Given the description of an element on the screen output the (x, y) to click on. 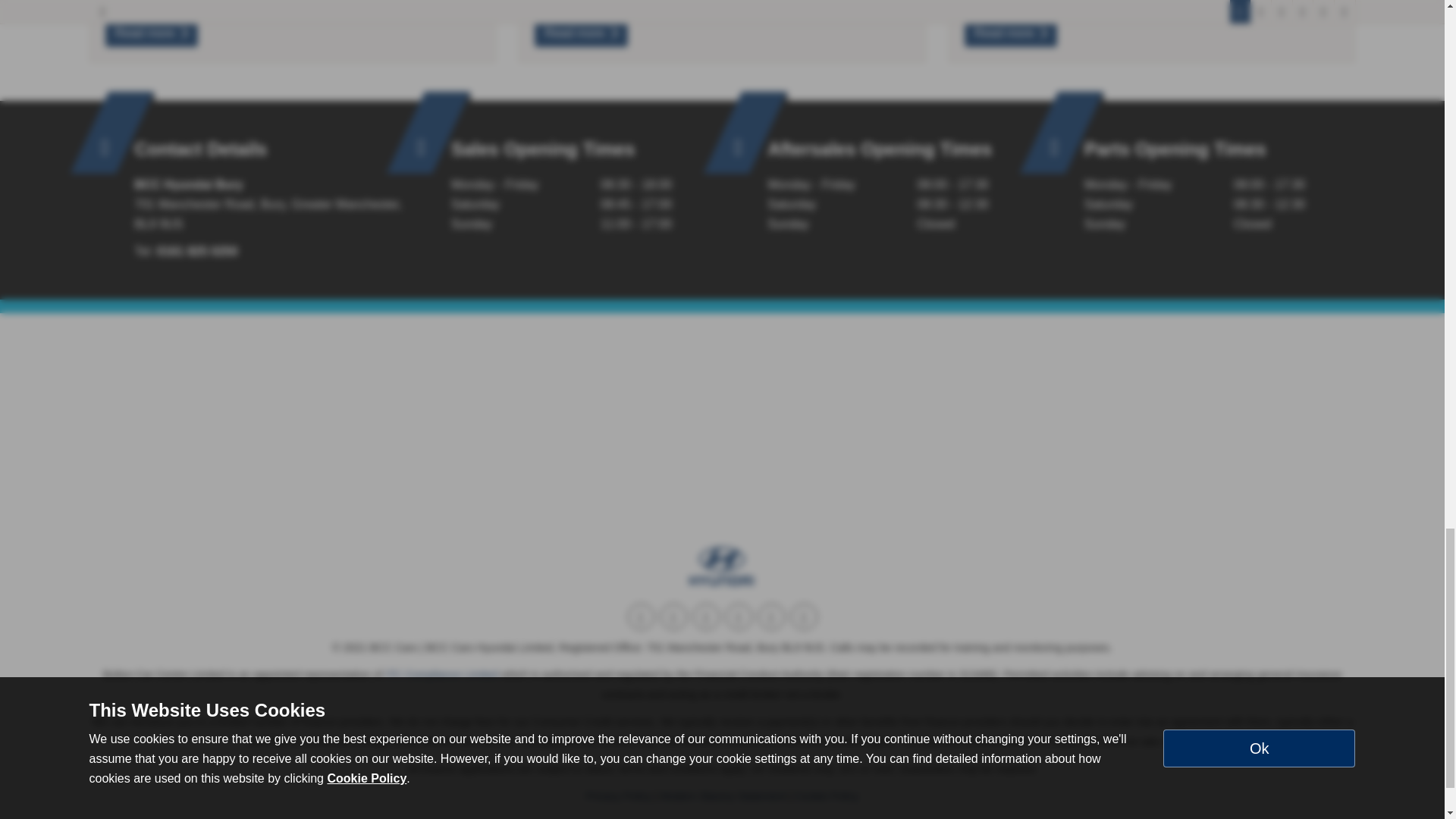
Explore the Hyundai N-Line Range (1010, 33)
Hyundai Euro NCAP Ratings (580, 33)
Hyundai Plug-in Hybrid Options (150, 33)
